Given the description of an element on the screen output the (x, y) to click on. 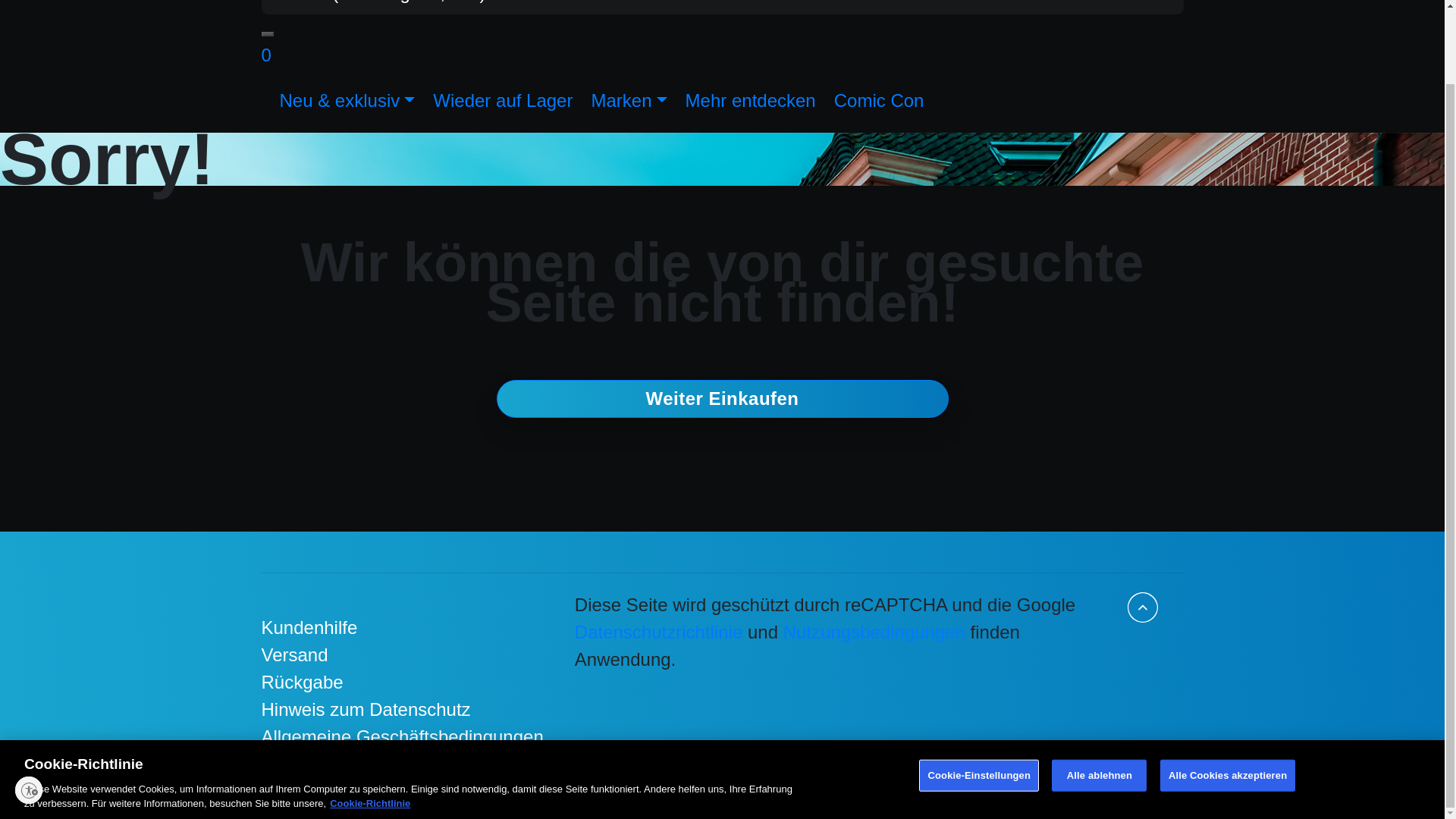
Wieder auf Lager (501, 100)
Barrierefreiheit aktivieren (28, 707)
Marken (627, 100)
Hoch (1141, 607)
